Given the description of an element on the screen output the (x, y) to click on. 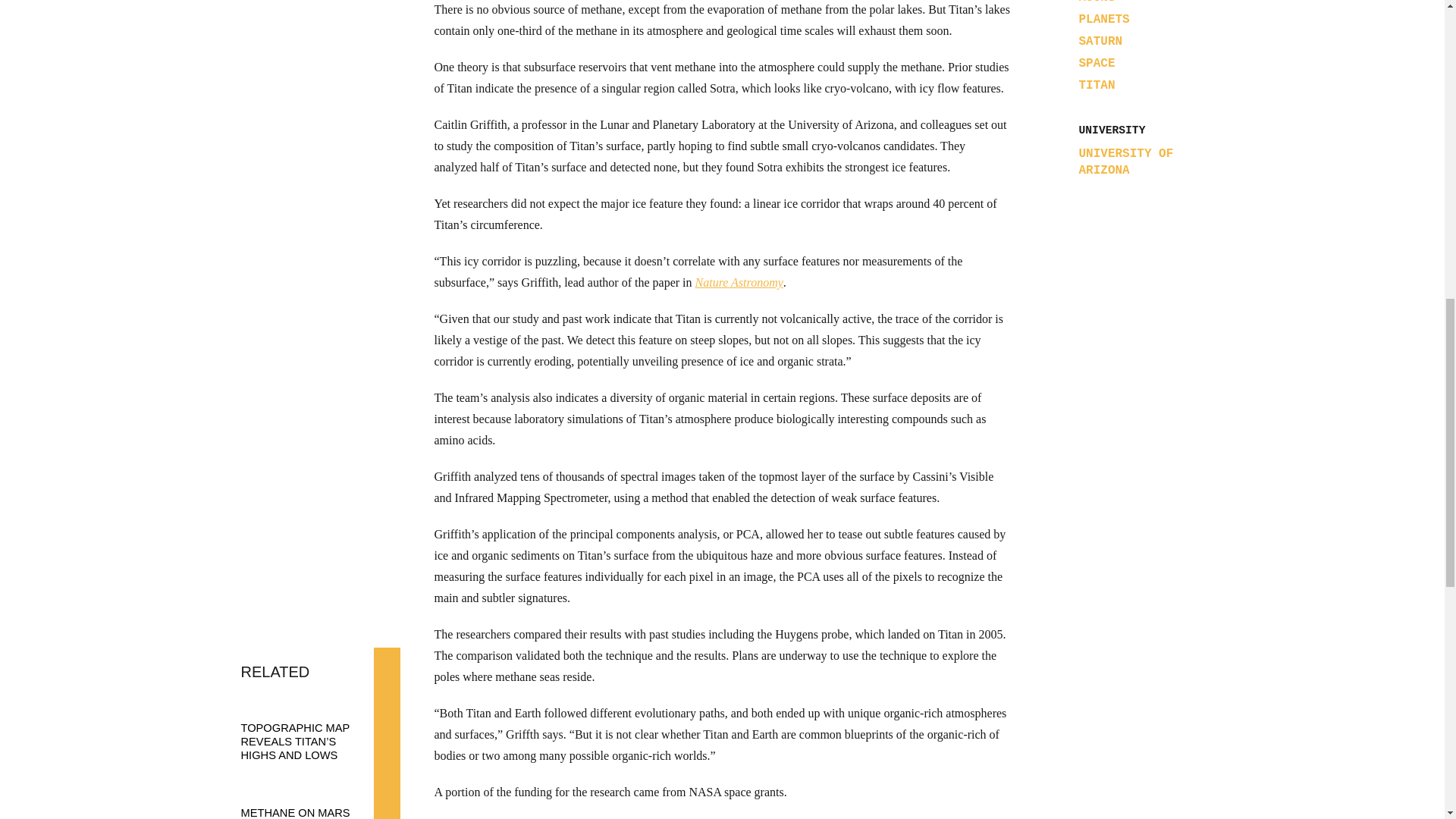
SPACE (1096, 63)
PLANETS (1103, 19)
MOONS (1096, 2)
SATURN (1100, 41)
